Given the description of an element on the screen output the (x, y) to click on. 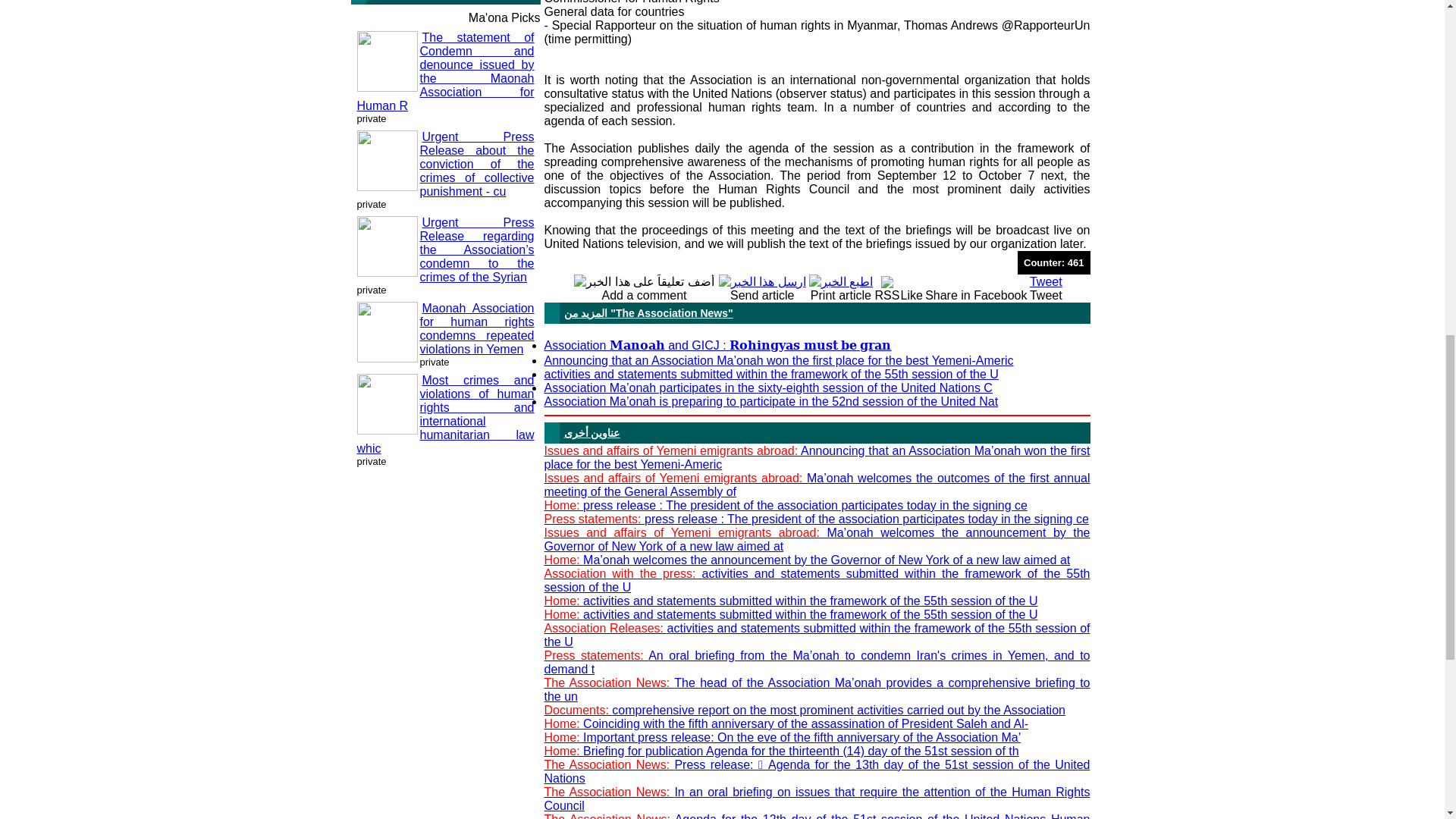
Tweet (1045, 280)
